Given the description of an element on the screen output the (x, y) to click on. 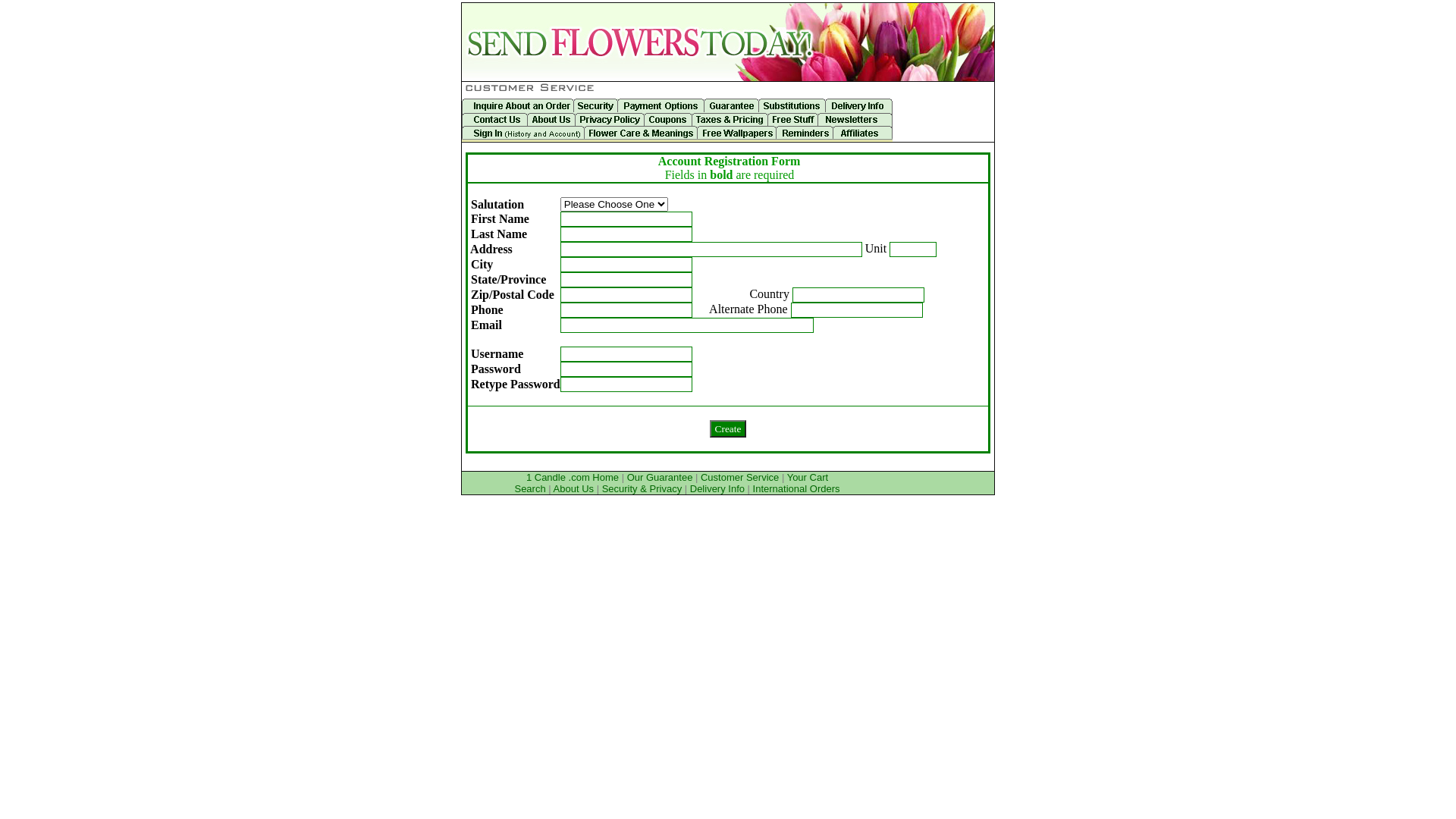
International Orders Element type: text (796, 488)
About Us Element type: text (573, 488)
Our Guarantee Element type: text (660, 477)
Search Element type: text (529, 488)
Create Element type: text (727, 428)
Customer Service Element type: text (739, 477)
1 Candle .com Home Element type: text (572, 477)
Delivery Info Element type: text (717, 488)
Your Cart Element type: text (807, 477)
Security & Privacy Element type: text (641, 488)
